Given the description of an element on the screen output the (x, y) to click on. 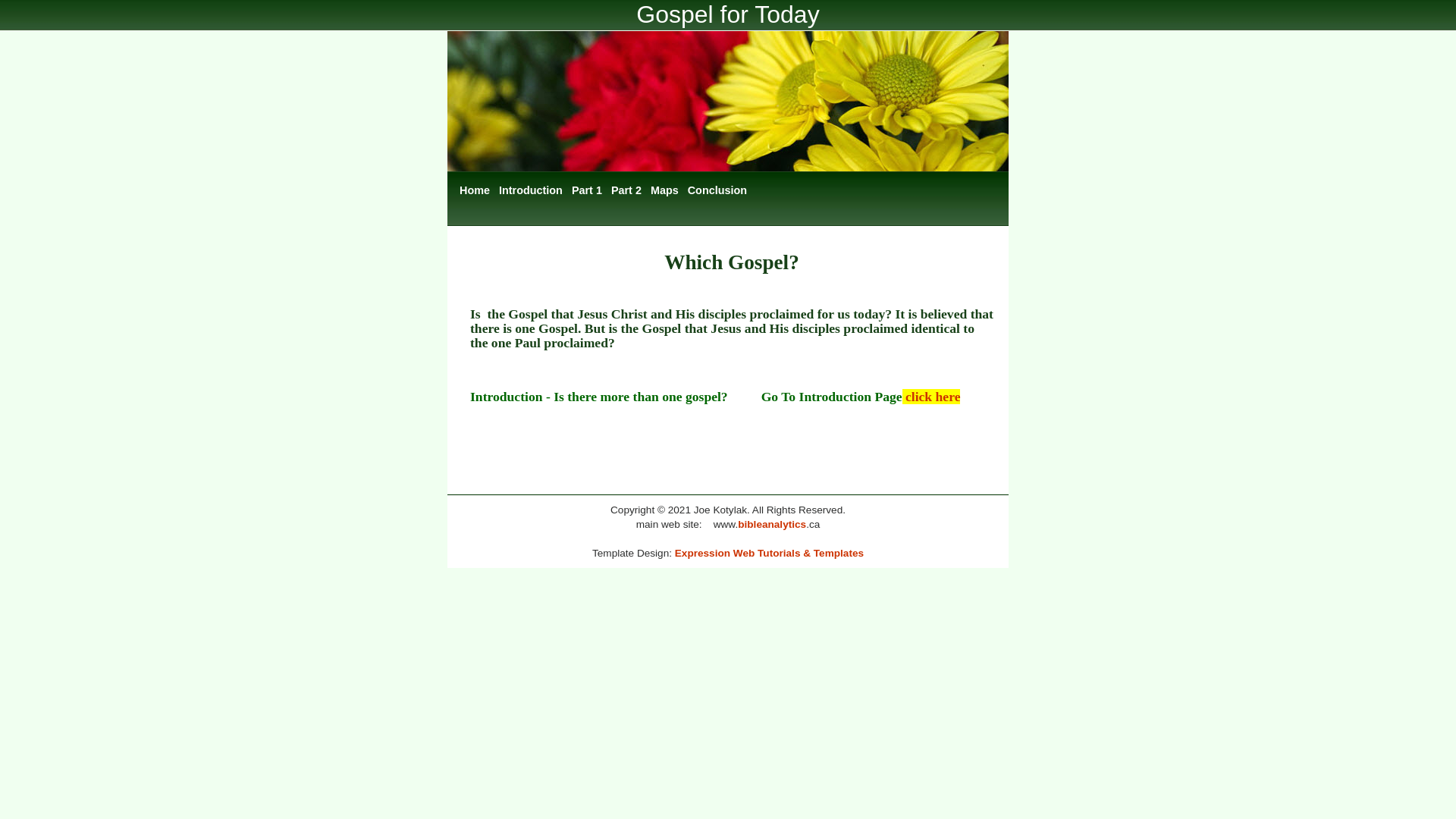
Part 1 Element type: text (586, 190)
Maps Element type: text (664, 190)
click here Element type: text (932, 396)
Conclusion Element type: text (717, 190)
Part 2 Element type: text (626, 190)
Home Element type: text (474, 190)
bibleanalytics Element type: text (771, 524)
Expression Web Tutorials & Templates Element type: text (768, 552)
Introduction Element type: text (530, 190)
